Given the description of an element on the screen output the (x, y) to click on. 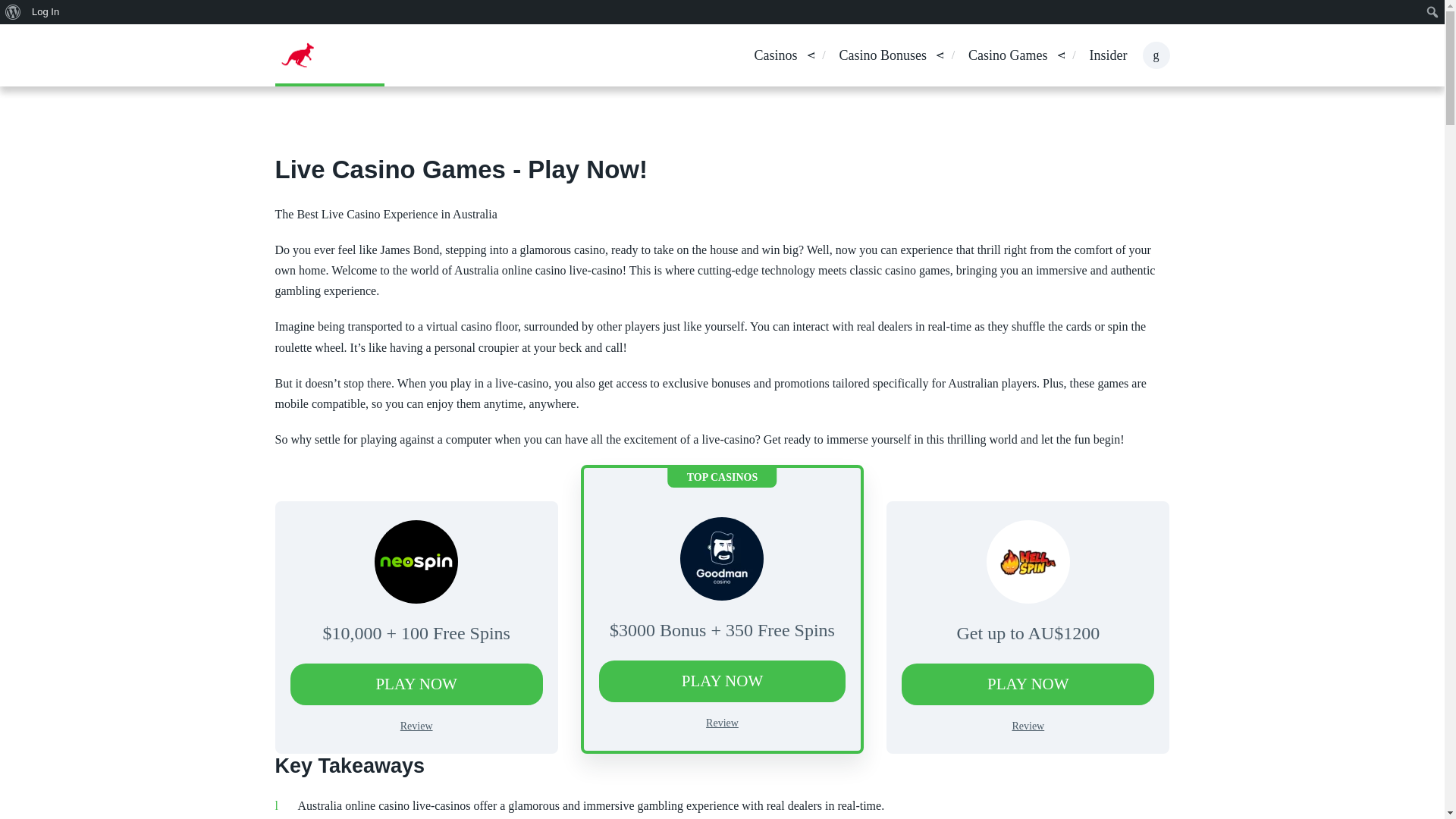
Search (16, 13)
Review (722, 722)
Review (416, 726)
Casino Games (1007, 55)
PLAY NOW (721, 680)
Casinos (775, 55)
Insider (1107, 55)
Log In (45, 12)
PLAY NOW (415, 684)
Casino Bonuses (883, 55)
